Given the description of an element on the screen output the (x, y) to click on. 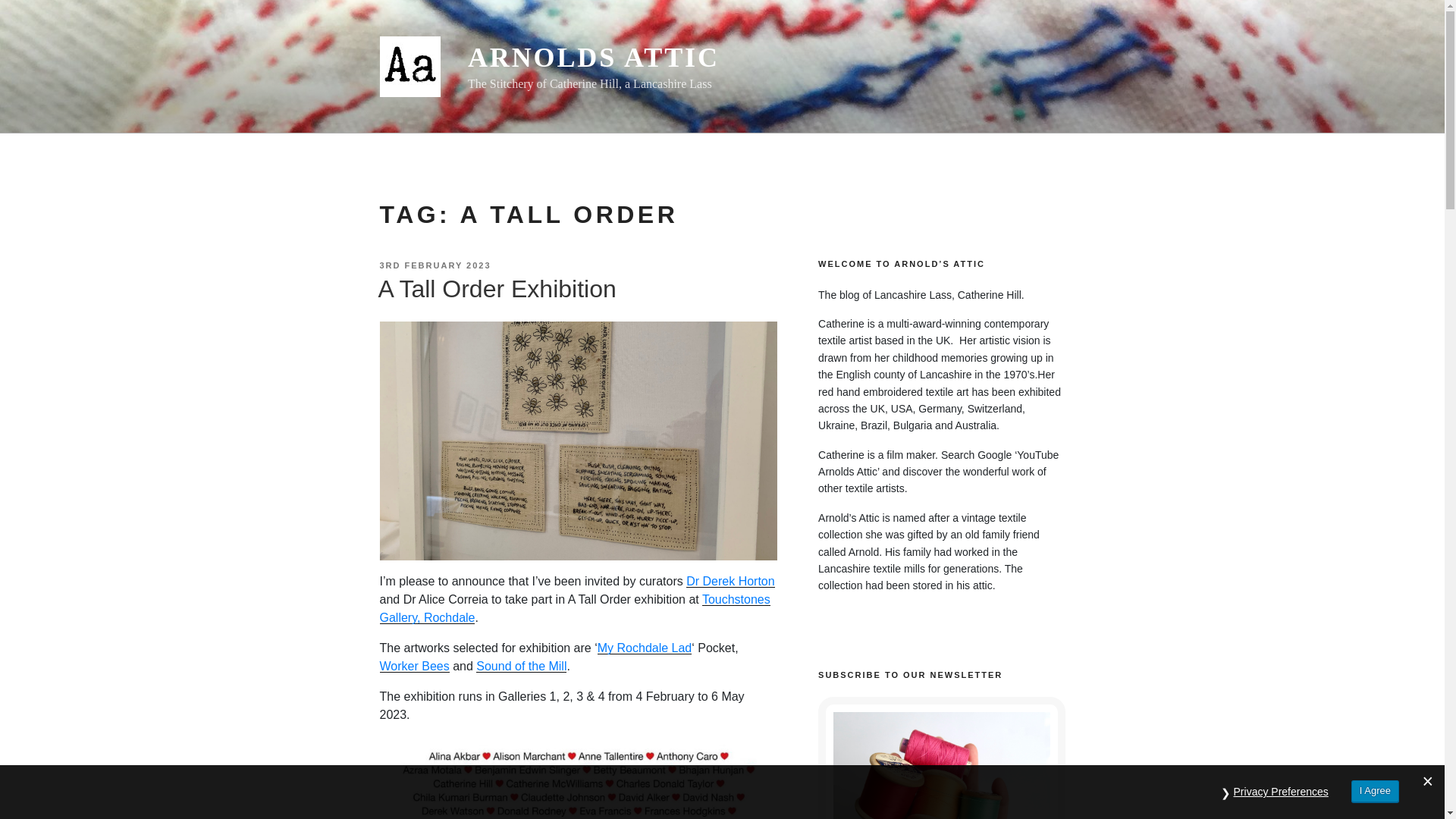
ARNOLDS ATTIC (593, 57)
My Rochdale Lad (644, 647)
Dr Derek Horton (729, 581)
Sound of the Mill (521, 666)
Touchstones Gallery, Rochdale (574, 608)
A Tall Order Exhibition (496, 288)
3RD FEBRUARY 2023 (434, 265)
Worker Bees (413, 666)
